Given the description of an element on the screen output the (x, y) to click on. 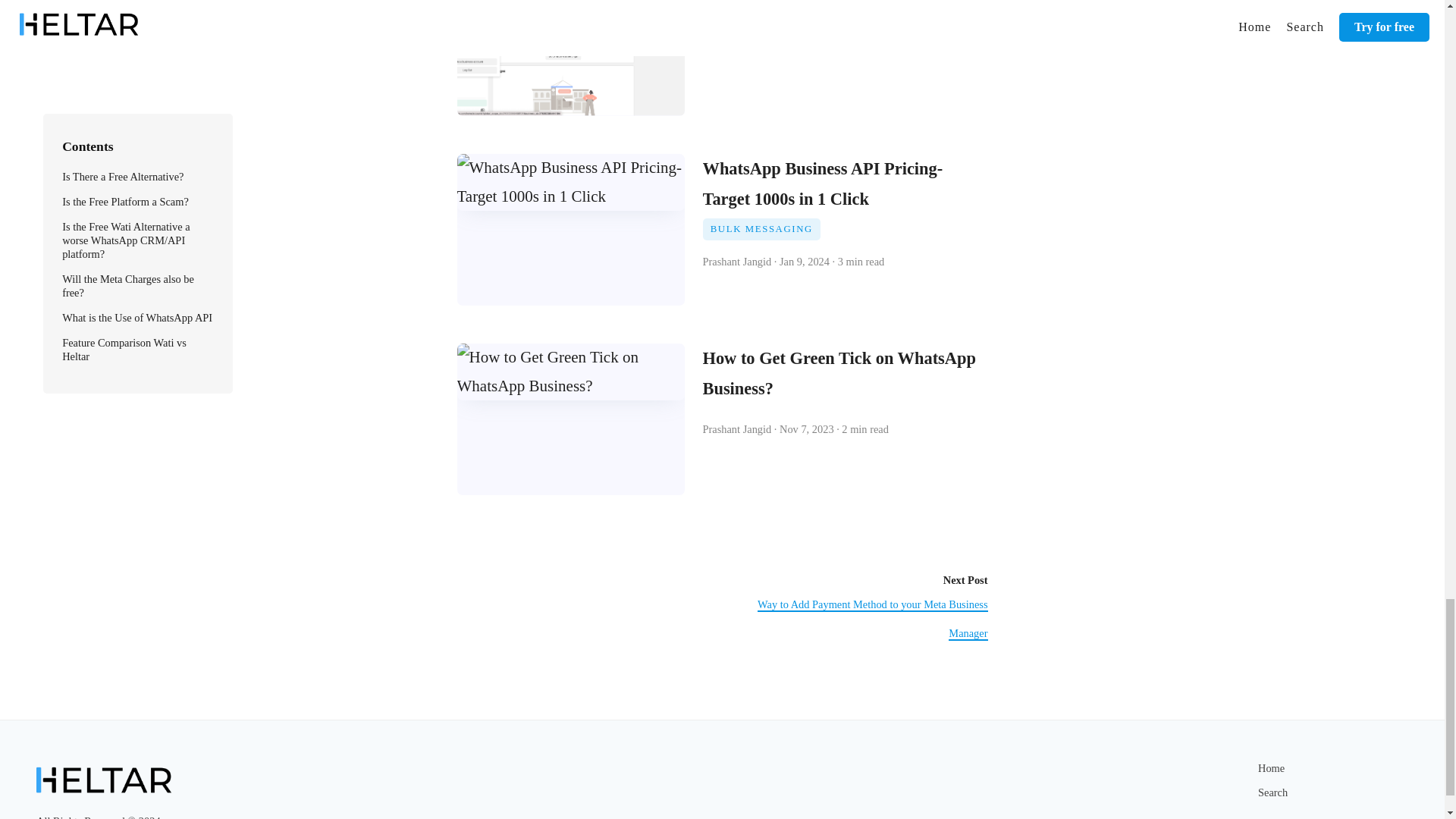
Home (1270, 767)
Way to Add Payment Method to your Meta Business Manager (872, 619)
Search (1272, 792)
